Given the description of an element on the screen output the (x, y) to click on. 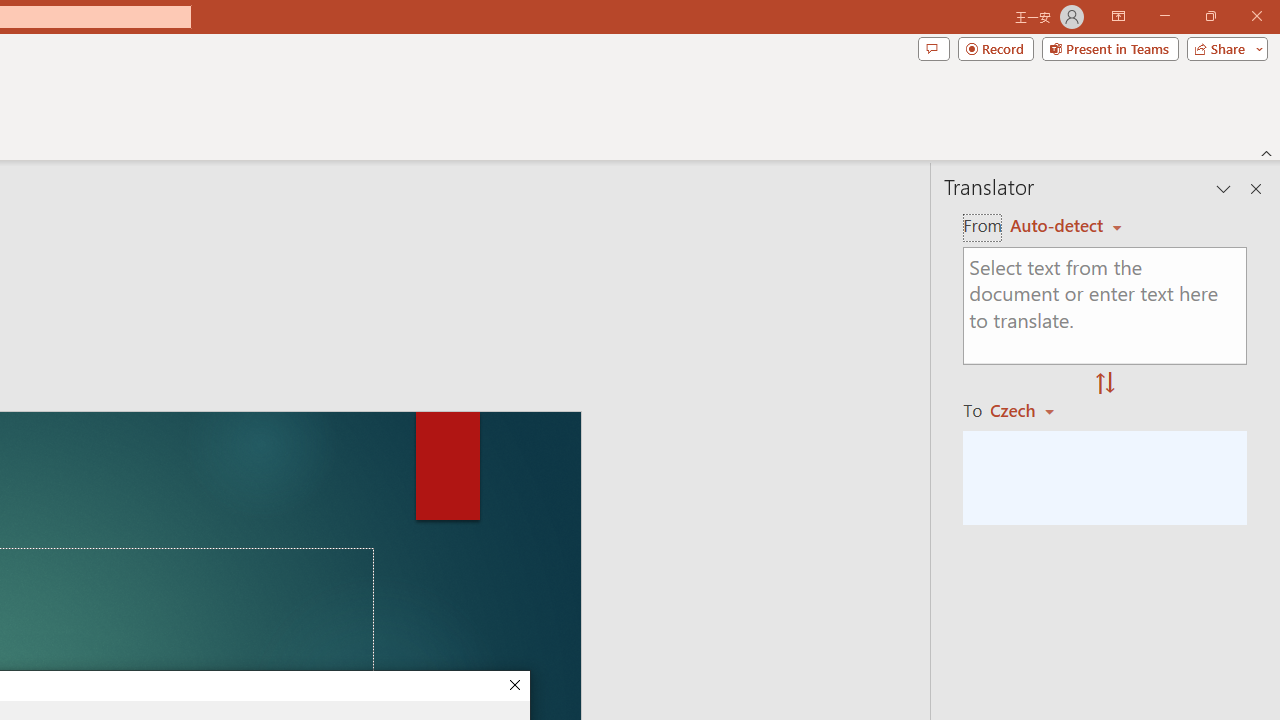
Auto-detect (1066, 225)
Swap "from" and "to" languages. (1105, 383)
Czech (1030, 409)
